Given the description of an element on the screen output the (x, y) to click on. 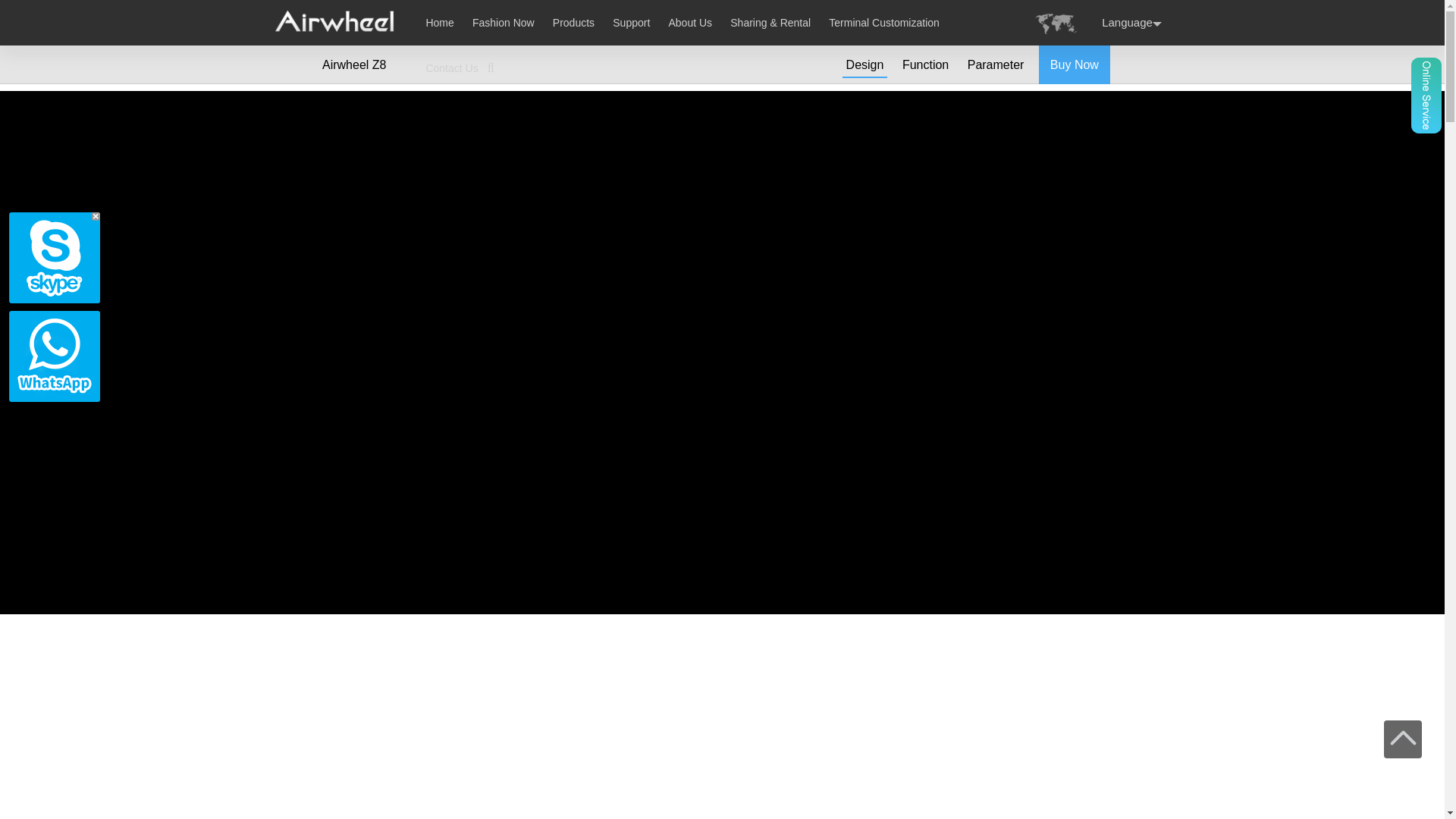
Home (438, 22)
Products (573, 22)
Contact Us (451, 68)
Support (630, 22)
Terminal Customization (883, 22)
